Given the description of an element on the screen output the (x, y) to click on. 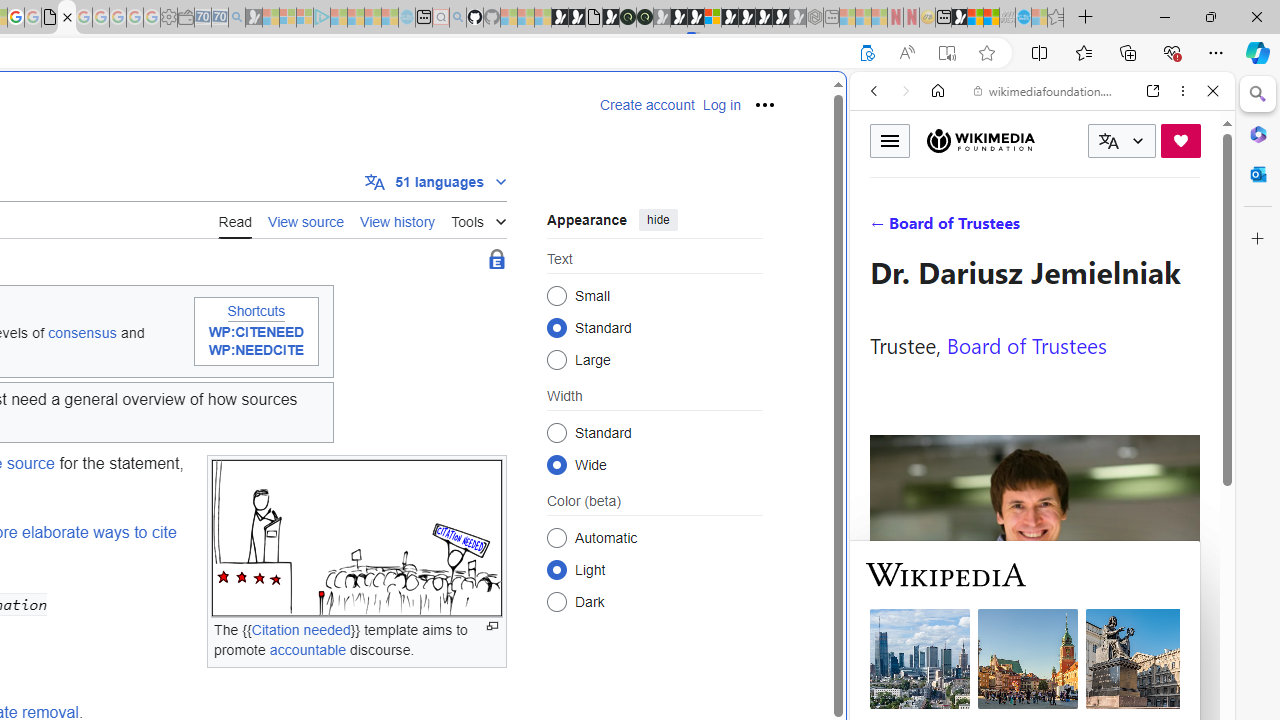
Automatic (556, 537)
Support Wikipedia? (867, 53)
View history (397, 219)
consensus (82, 332)
Earth has six continents not seven, radical new study claims (991, 17)
Future Focus Report 2024 (644, 17)
Create account (647, 105)
Personal tools (764, 104)
